Given the description of an element on the screen output the (x, y) to click on. 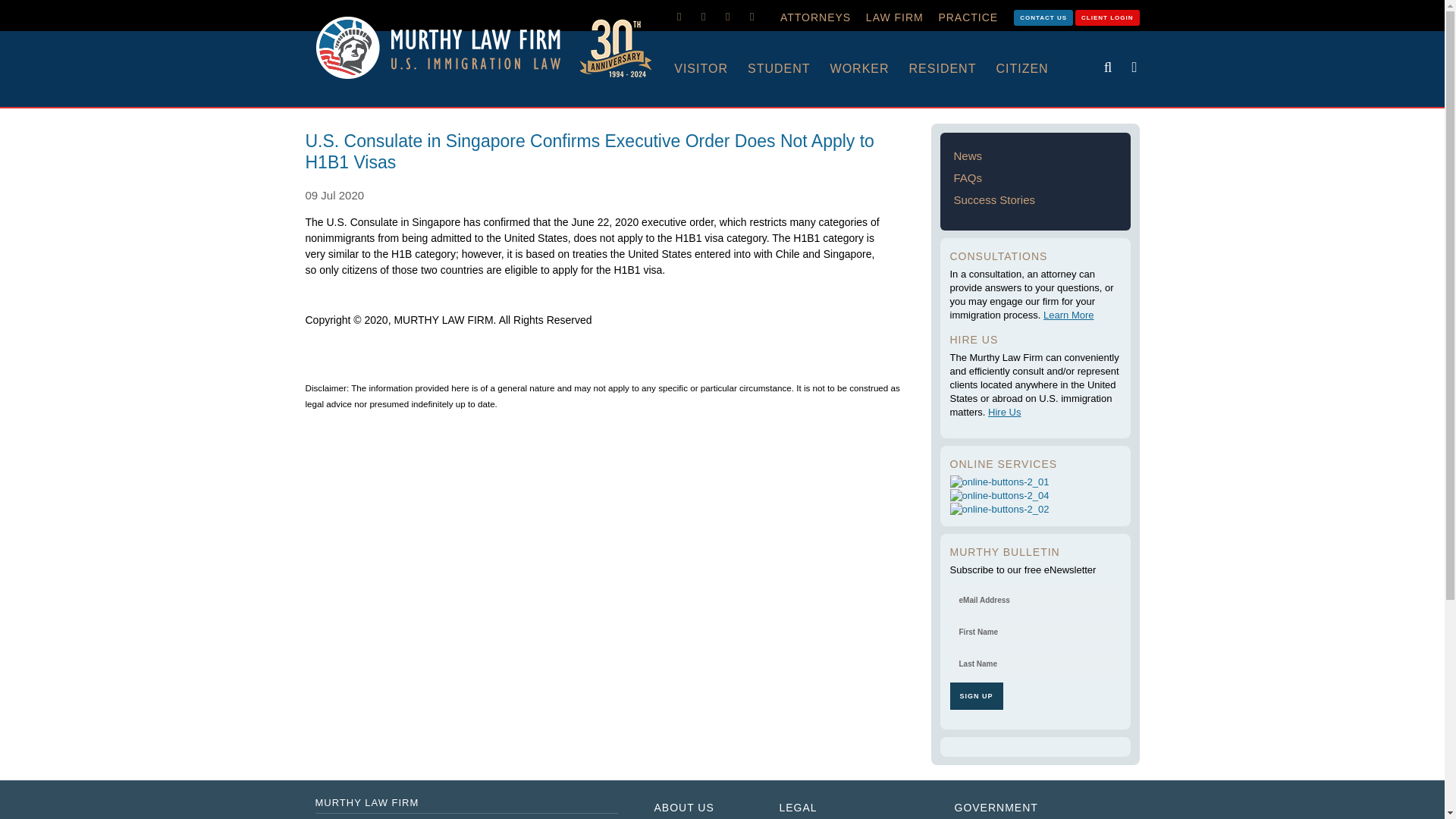
ATTORNEYS (815, 17)
STUDENT (788, 69)
LAW FIRM (895, 17)
RESIDENT (951, 69)
CONTACT US (1043, 17)
CLIENT LOGIN (1106, 17)
WORKER (868, 69)
PRACTICE (967, 17)
VISITOR (711, 69)
Sign up (976, 696)
